Given the description of an element on the screen output the (x, y) to click on. 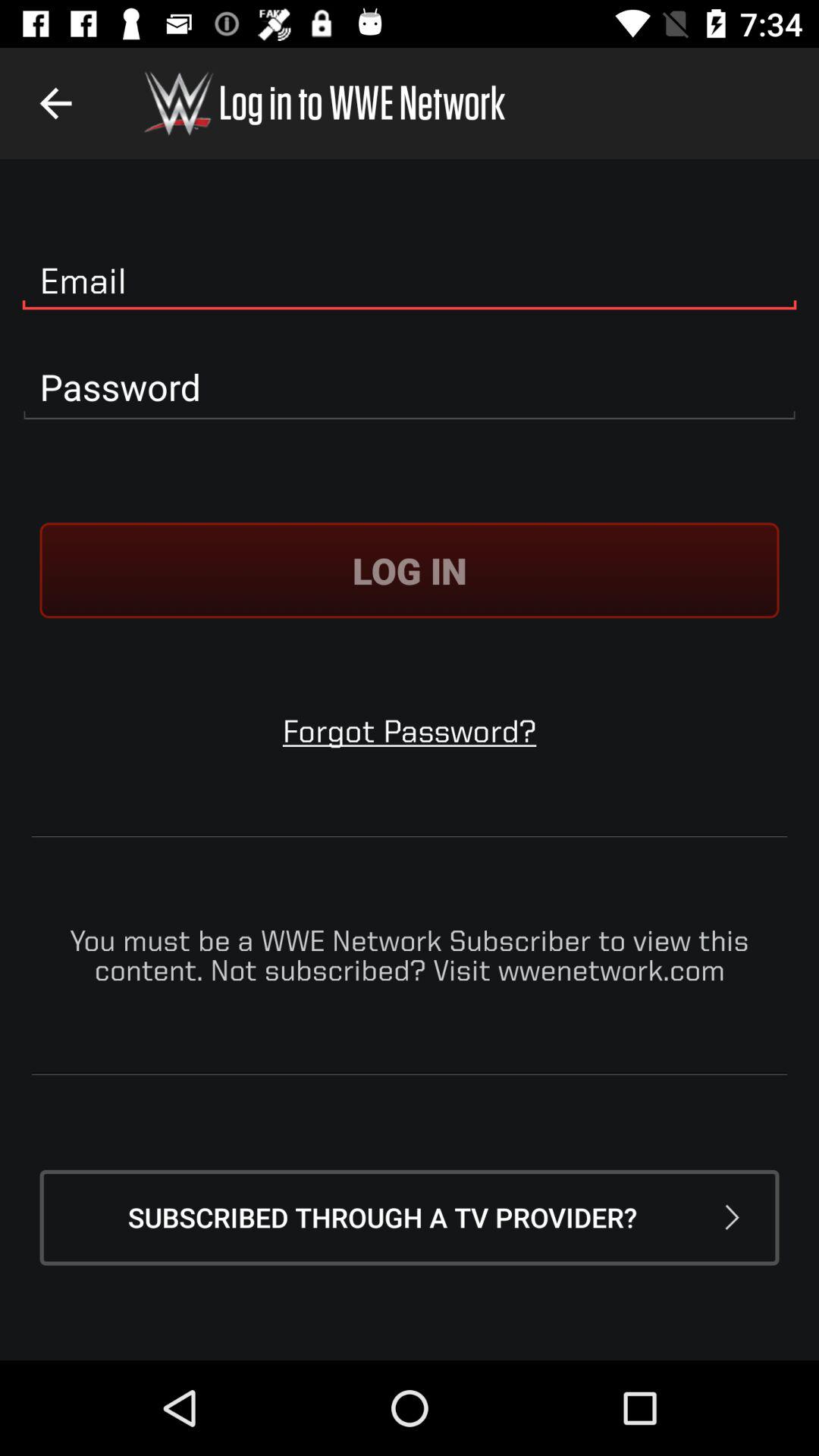
swipe to forgot password? icon (409, 730)
